Given the description of an element on the screen output the (x, y) to click on. 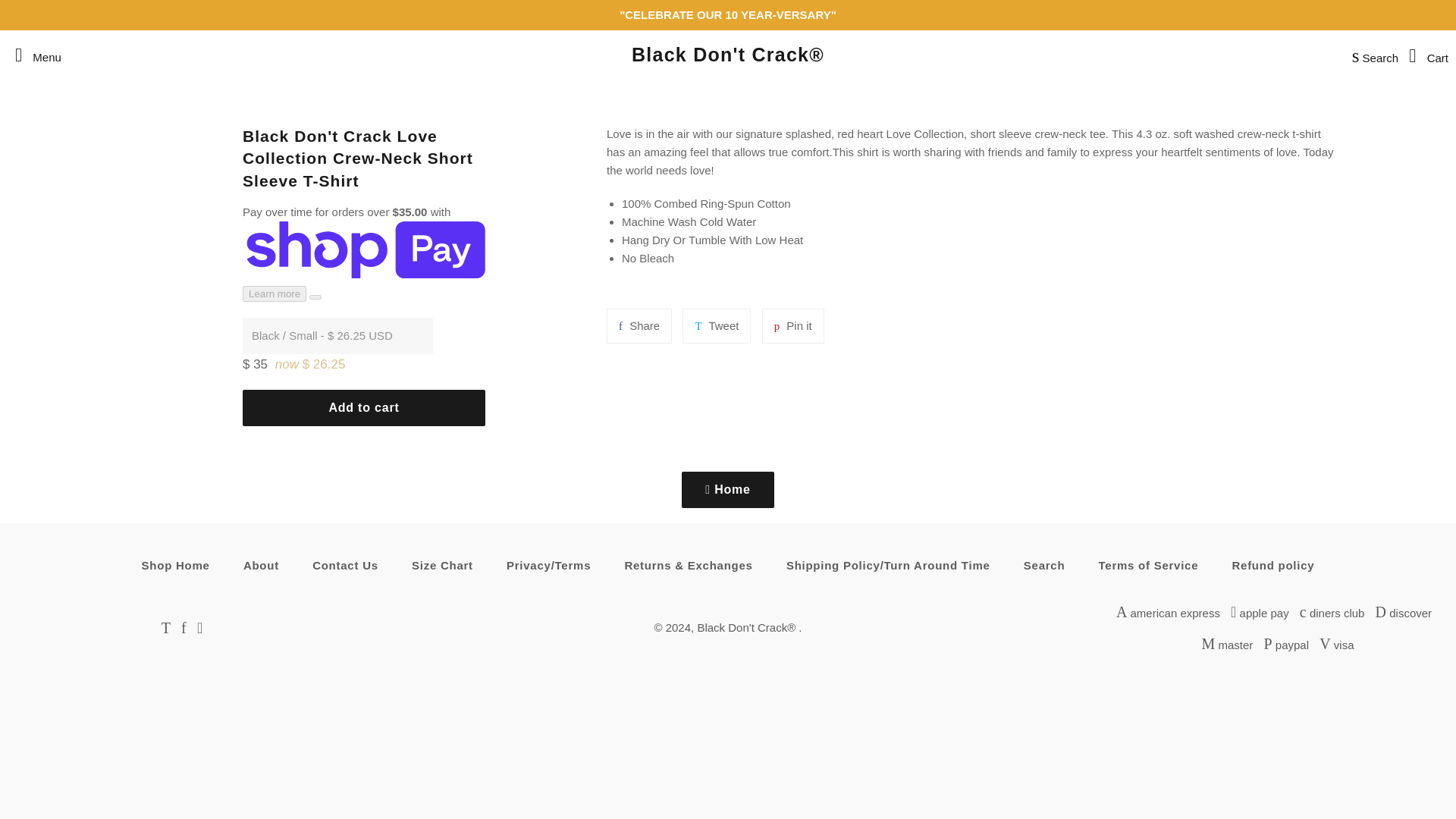
Add to cart (363, 407)
Cart (1424, 53)
Search (1370, 53)
About (261, 565)
Contact Us (716, 325)
Tweet on Twitter (345, 565)
Menu (716, 325)
Pin on Pinterest (34, 54)
Home (792, 325)
Shop Home (792, 325)
Share on Facebook (727, 489)
